Given the description of an element on the screen output the (x, y) to click on. 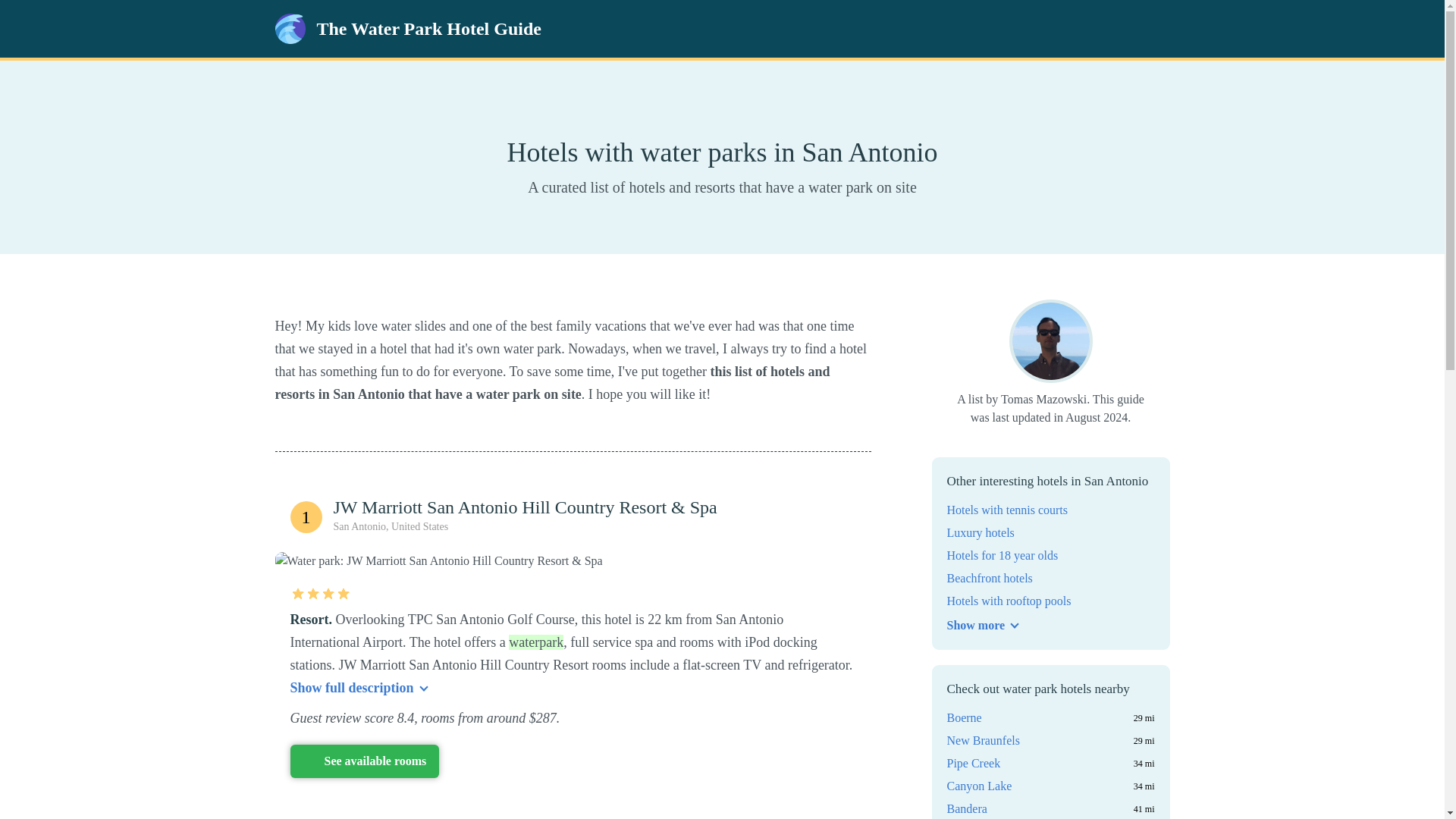
Beachfront hotels (989, 578)
See available rooms (364, 761)
Hotels for 18 year olds (1002, 556)
Tomas Mazowski (1050, 341)
New Braunfels (982, 741)
Pipe Creek (973, 763)
The Water Park Hotel Guide (407, 28)
Hotels with tennis courts (1006, 510)
Bandera (966, 809)
Canyon Lake (978, 786)
